Given the description of an element on the screen output the (x, y) to click on. 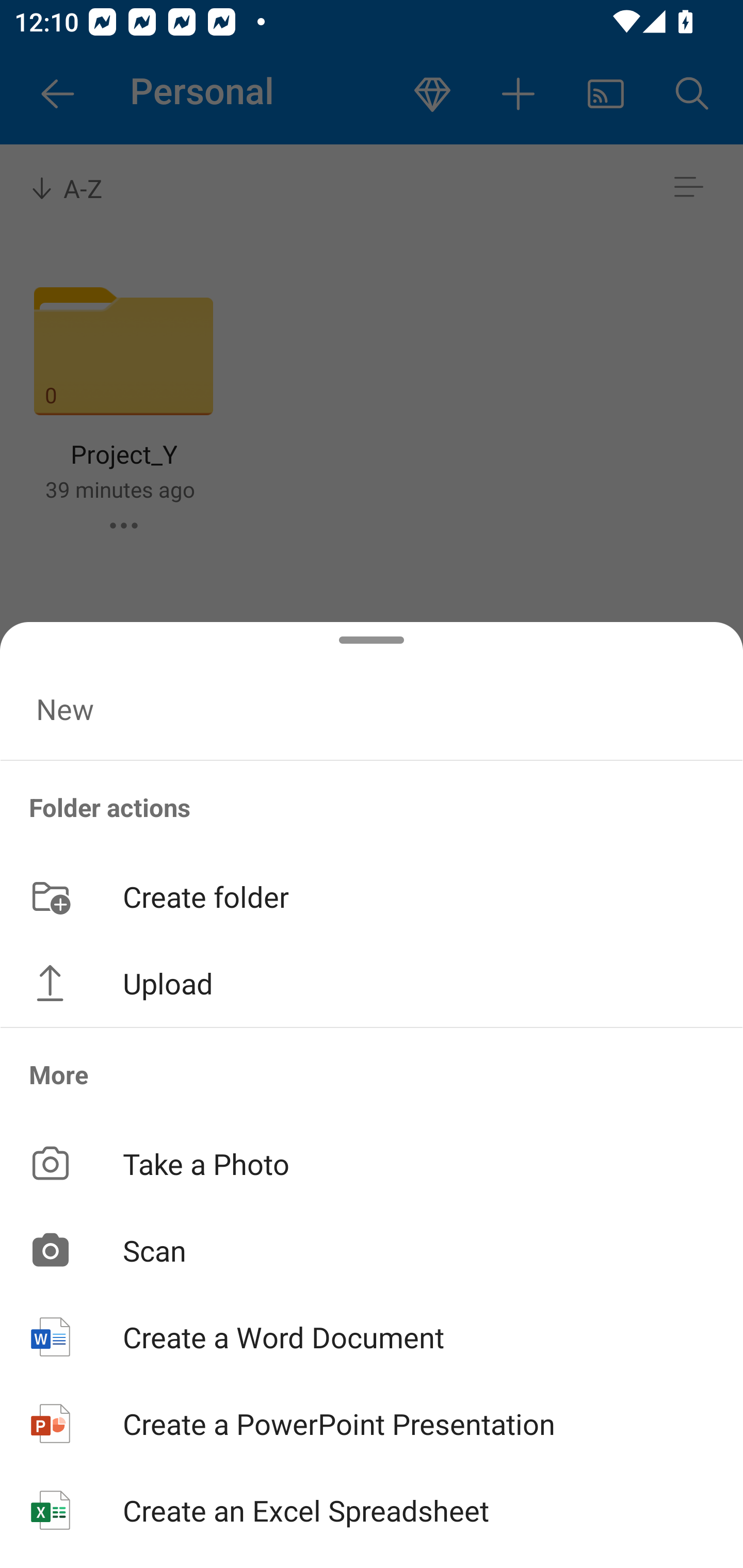
Create folder button Create folder (371, 895)
Upload button Upload (371, 983)
Take a Photo button Take a Photo (371, 1163)
Scan button Scan (371, 1250)
